Given the description of an element on the screen output the (x, y) to click on. 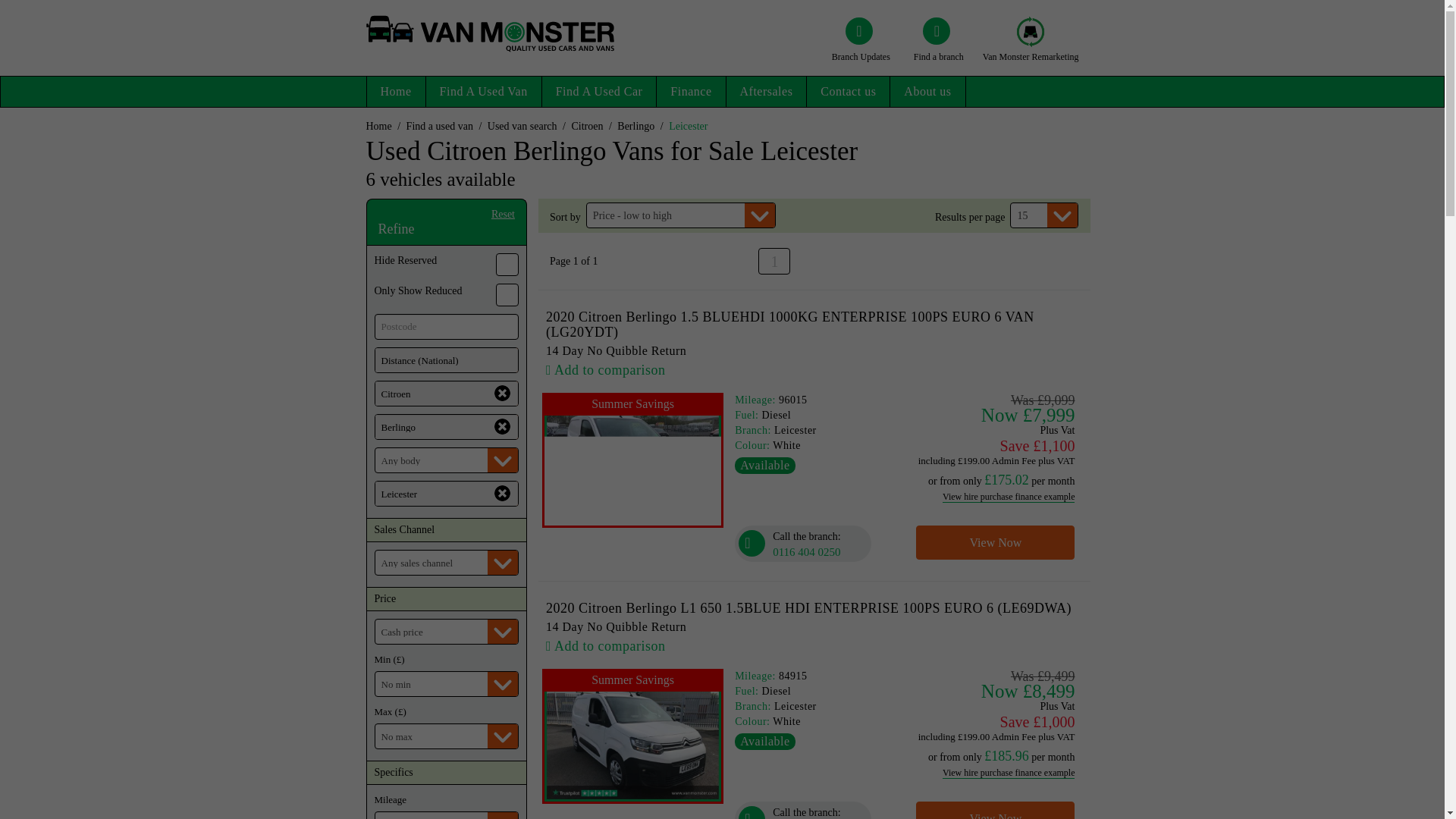
Remove search term (502, 425)
Remove search term (502, 493)
Branch Updates (861, 50)
Contact us (847, 91)
Find A Used Van (483, 91)
Home (395, 91)
Finance (690, 91)
Find a branch (938, 50)
Find a branch (938, 50)
Van Monster Remarketing (1030, 44)
